Given the description of an element on the screen output the (x, y) to click on. 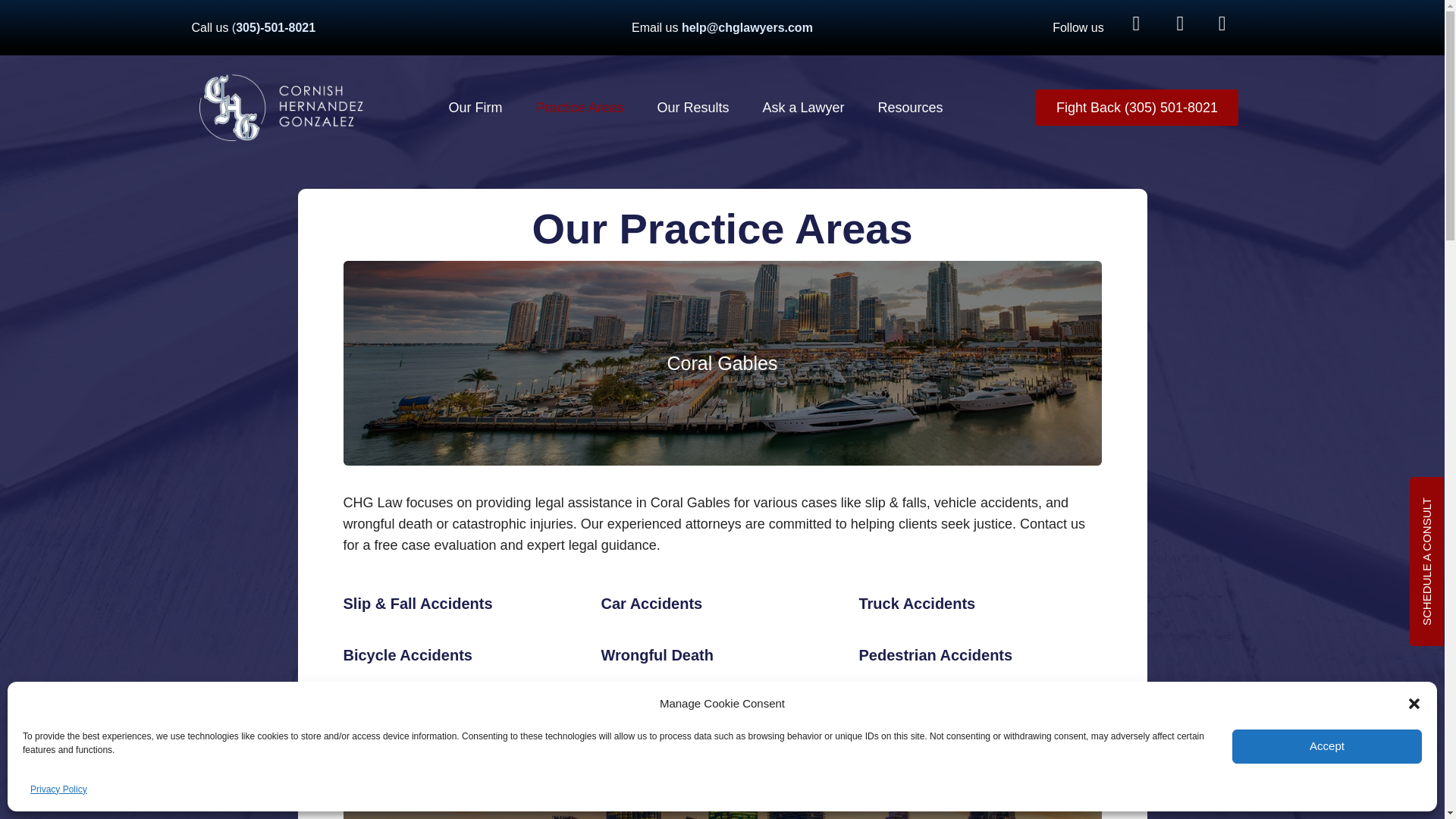
Accept (1326, 759)
Our Results (692, 107)
Ask a Lawyer (804, 107)
Practice Areas (579, 107)
Our Firm (474, 107)
Privacy Policy (58, 789)
Resources (910, 107)
